Given the description of an element on the screen output the (x, y) to click on. 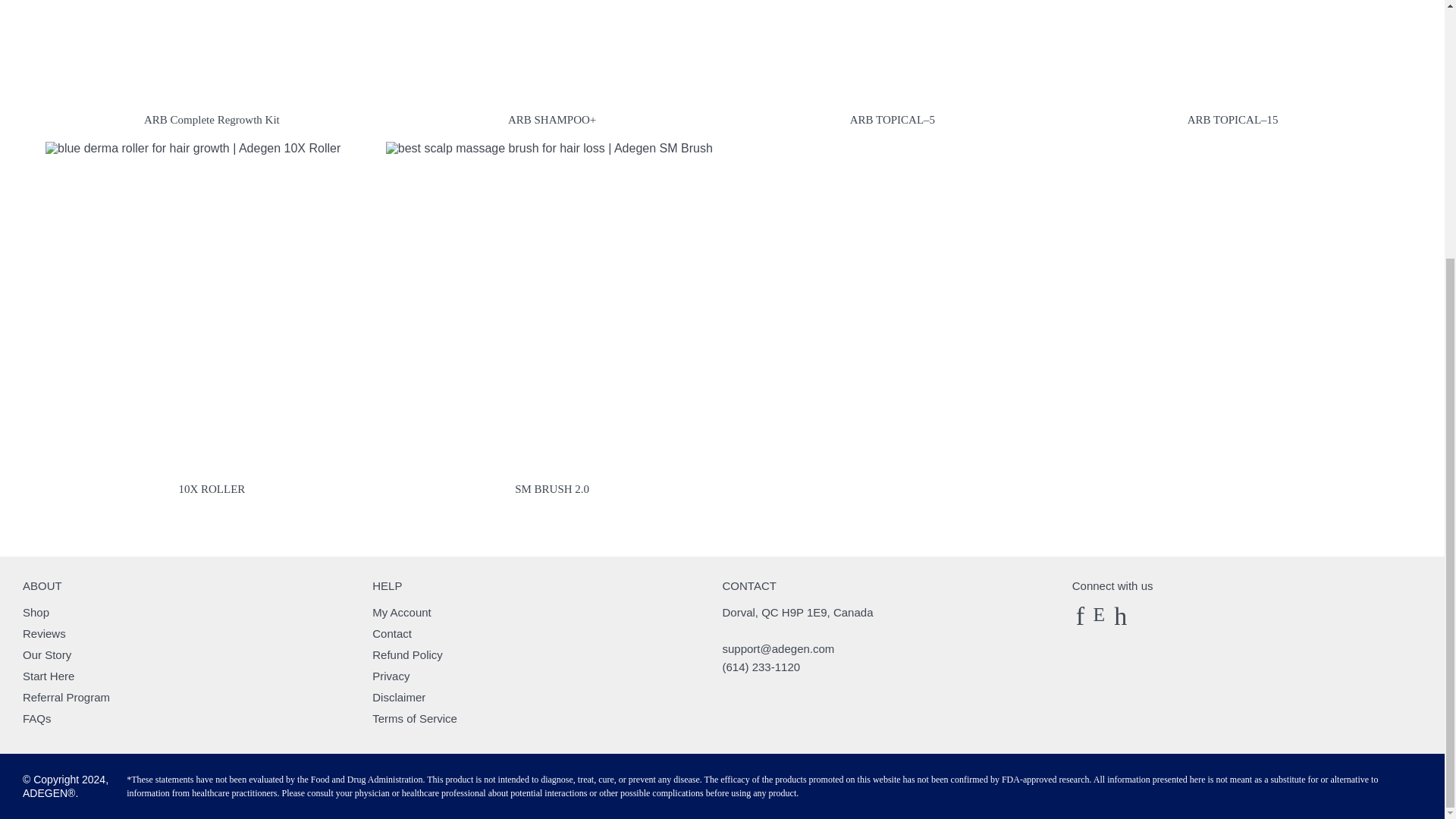
Contact (392, 632)
ARB Complete Regrowth Kit (207, 67)
10X ROLLER (207, 322)
Privacy (390, 675)
Our Story (47, 653)
SM BRUSH 2.0 (548, 322)
Referral Program (66, 696)
My Account (401, 611)
Refund Policy (407, 653)
Reviews (44, 632)
FAQs (36, 717)
Disclaimer (398, 696)
Start Here (48, 675)
Shop (36, 611)
